Given the description of an element on the screen output the (x, y) to click on. 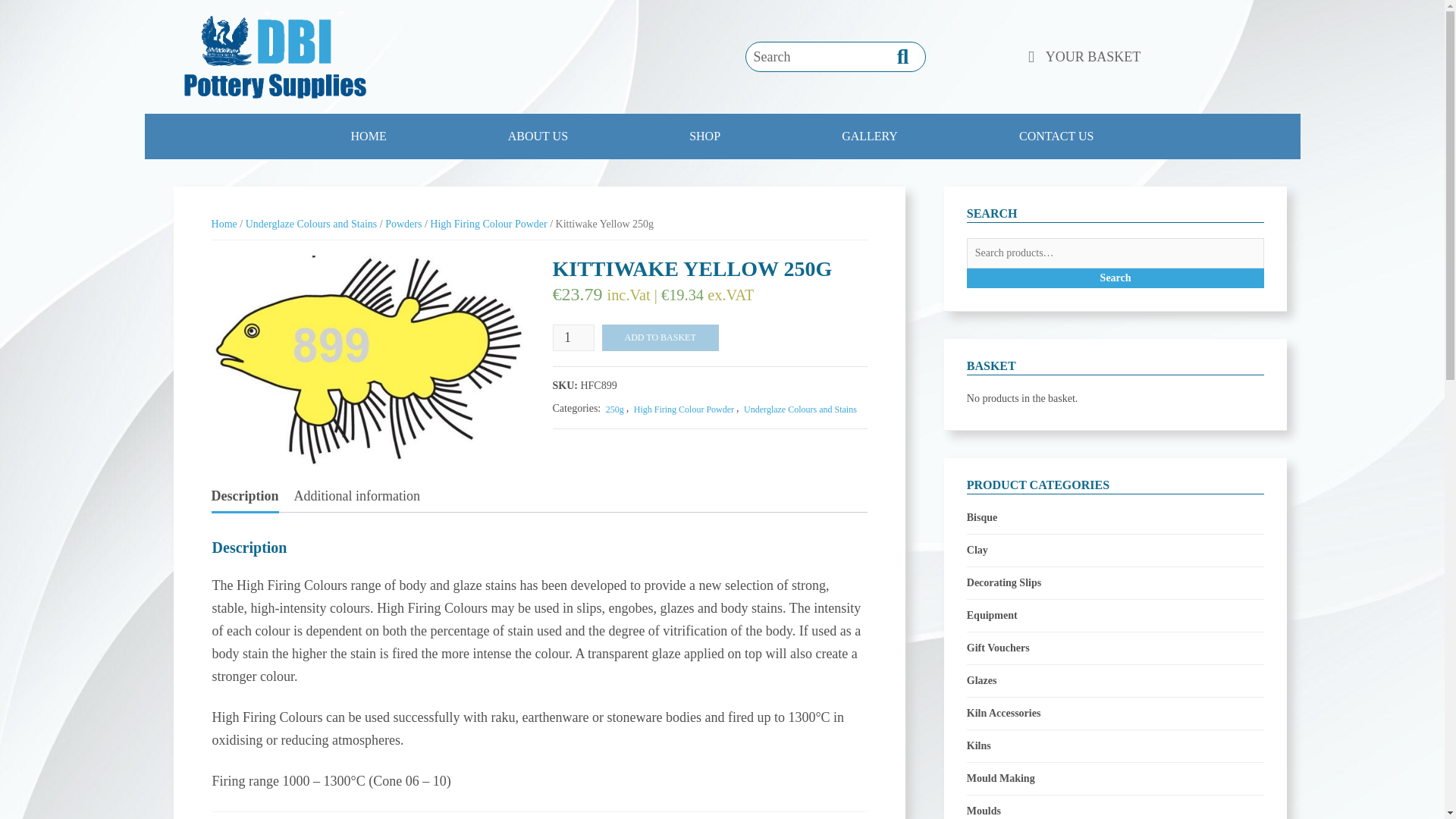
ADD TO BASKET (660, 337)
GALLERY (868, 135)
ABOUT US (537, 135)
Decorating Slips (1003, 582)
Glazes (981, 680)
HFC 899 (368, 360)
Equipment (991, 615)
Underglaze Colours and Stains (311, 224)
Clay (977, 550)
Additional information (357, 495)
